Given the description of an element on the screen output the (x, y) to click on. 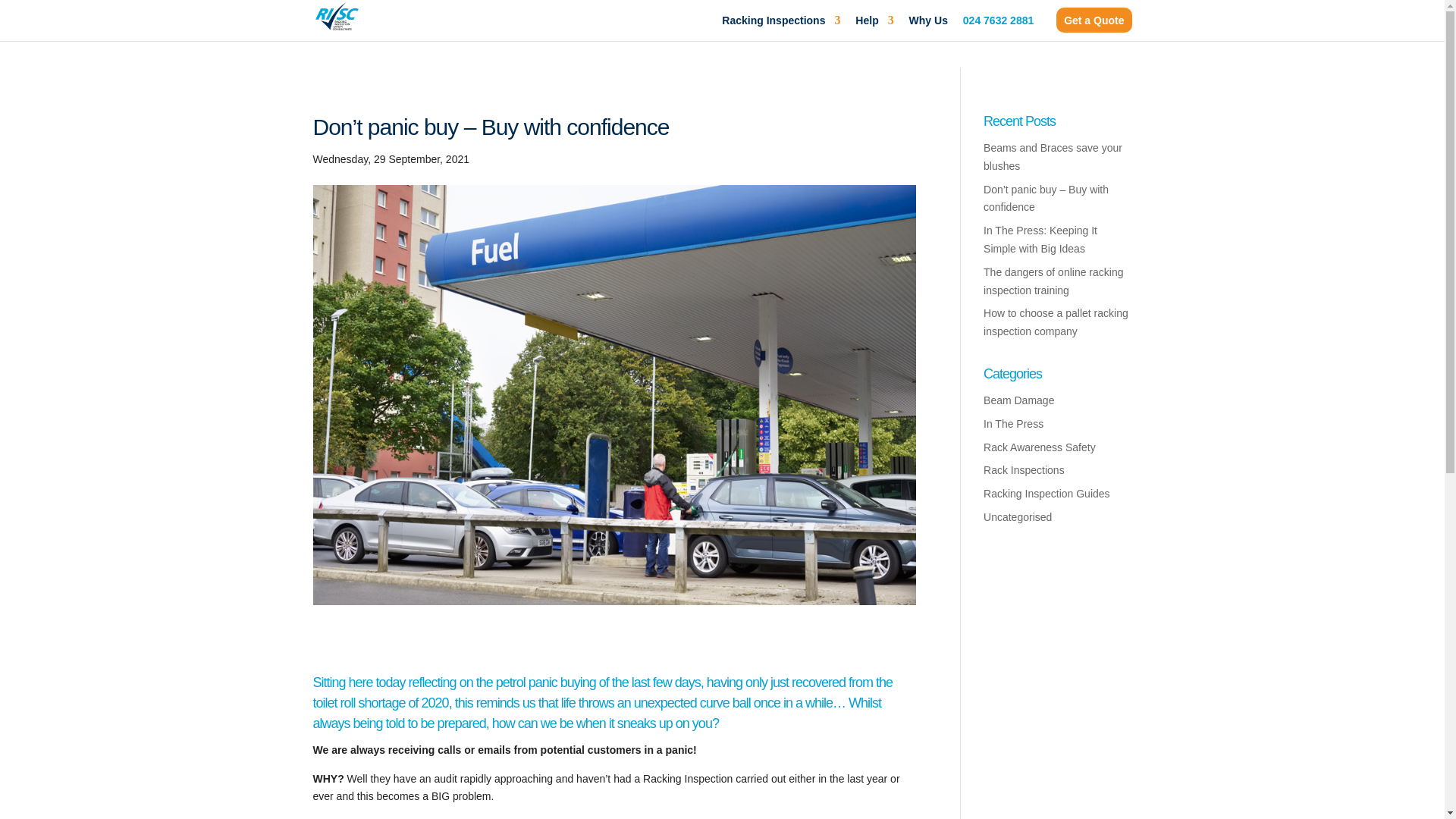
In The Press (1013, 423)
024 7632 2881 (997, 24)
Racking Inspections (781, 24)
The dangers of online racking inspection training (1053, 281)
Racking Inspection Guides (1046, 493)
Uncategorised (1017, 517)
How to choose a pallet racking inspection company (1056, 322)
Rack Awareness Safety (1040, 447)
In The Press: Keeping It Simple with Big Ideas (1040, 239)
Get a Quote (1094, 19)
